Given the description of an element on the screen output the (x, y) to click on. 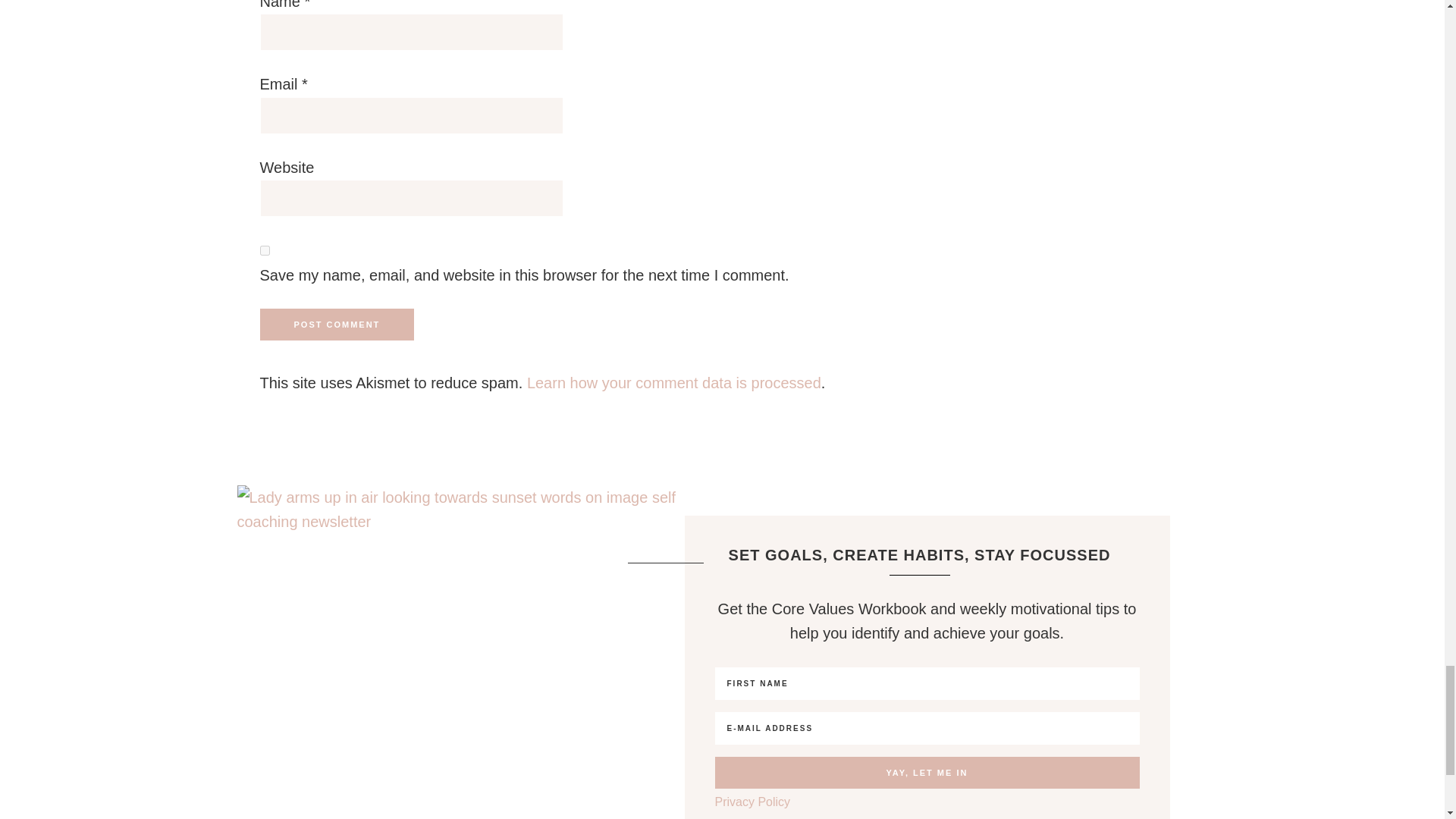
Privacy Policy (752, 801)
Post Comment (336, 324)
Yay, Let Me In (926, 772)
Post Comment (336, 324)
Yay, Let Me In (926, 772)
Learn how your comment data is processed (674, 382)
yes (264, 250)
